Given the description of an element on the screen output the (x, y) to click on. 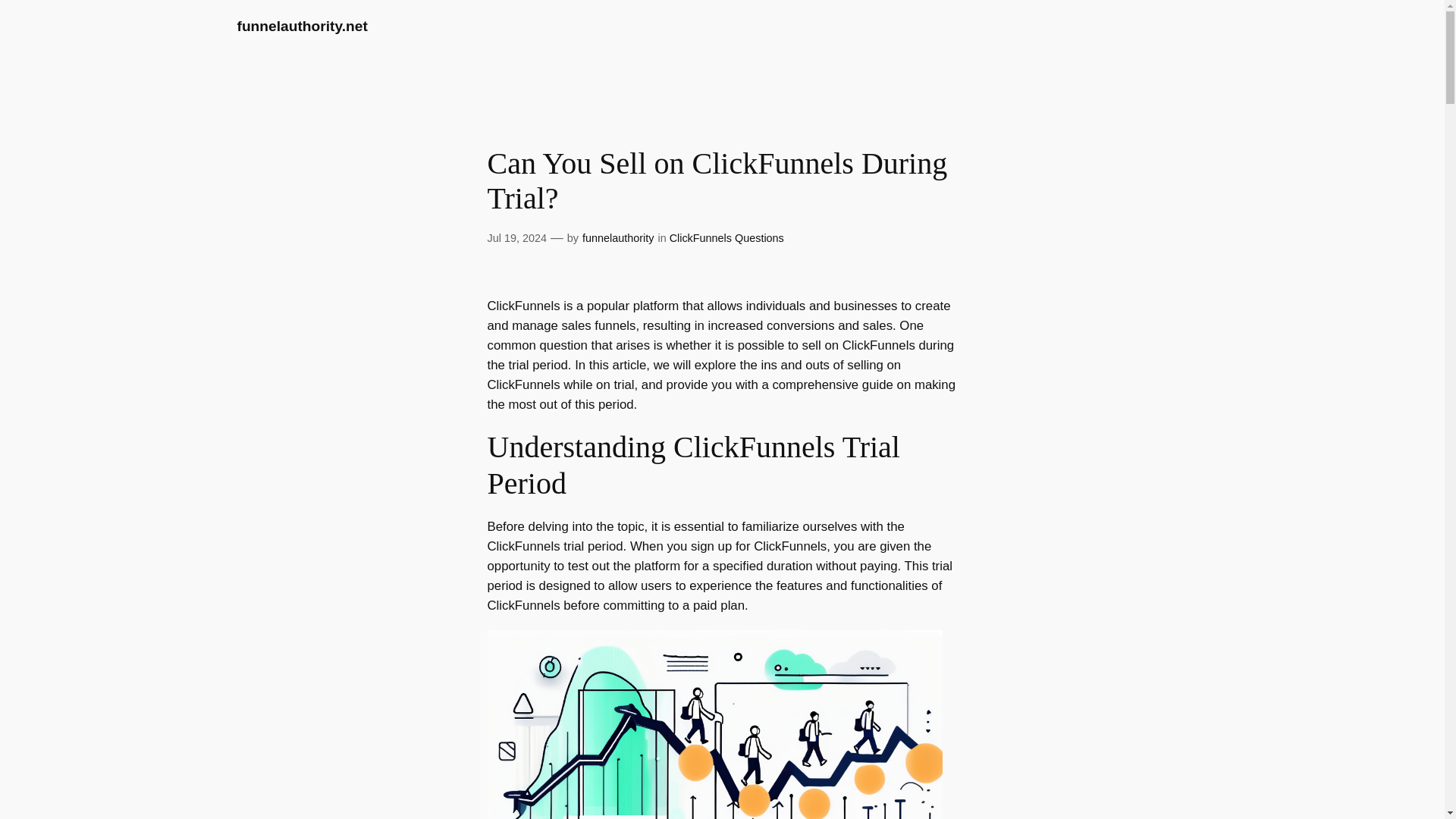
funnelauthority.net (300, 26)
Jul 19, 2024 (516, 237)
funnelauthority (617, 237)
ClickFunnels Questions (726, 237)
